Given the description of an element on the screen output the (x, y) to click on. 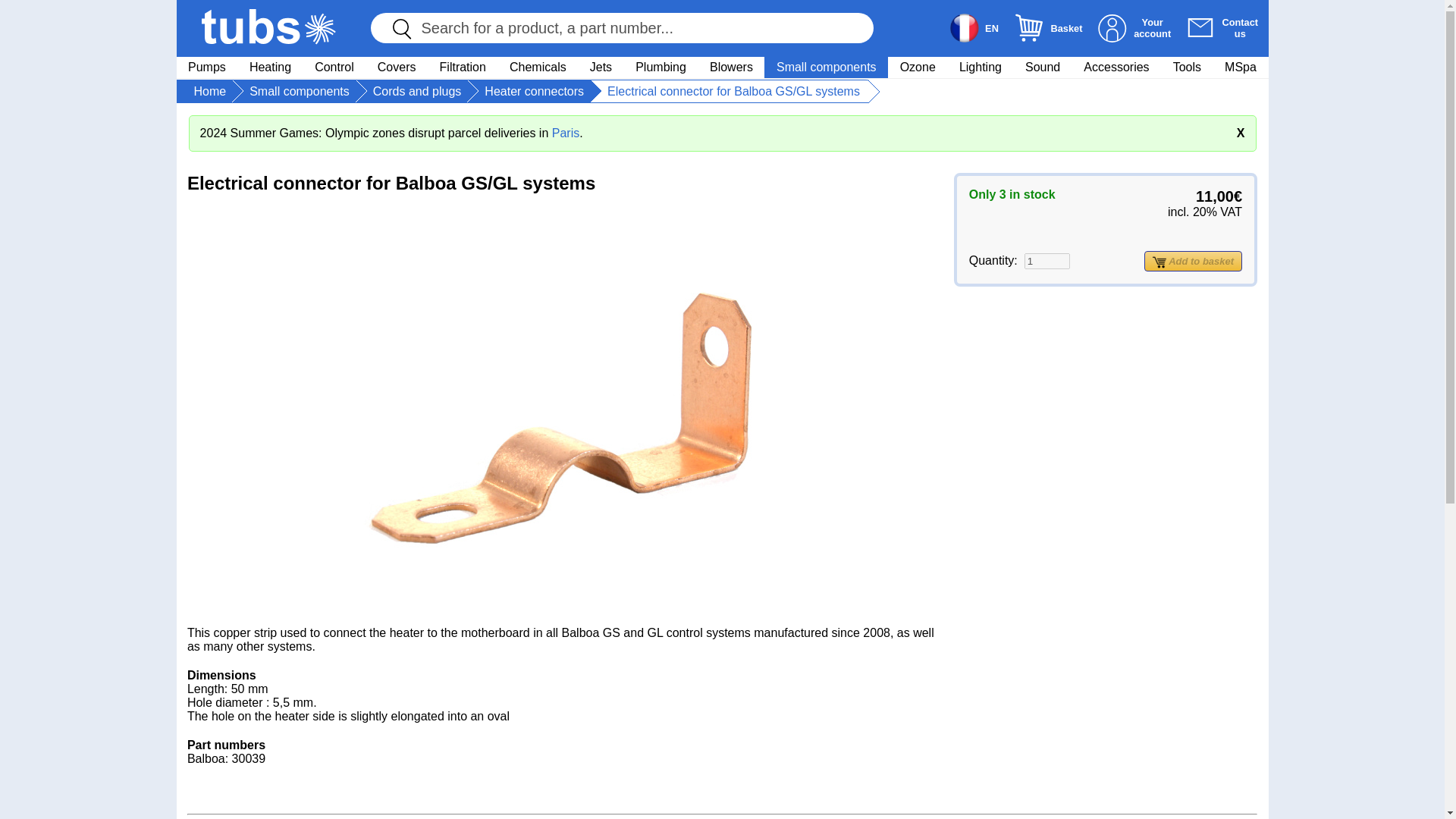
Contact us (1200, 27)
Chemicals (537, 66)
Heater connectors (533, 91)
Control (334, 66)
Small components (298, 91)
Blowers (730, 66)
Contact us (1219, 28)
Paris (565, 132)
Home (210, 91)
Basket (1028, 27)
Jets (600, 66)
Small components (826, 66)
MSpa (1240, 66)
Hot tub and spa products (269, 27)
EN (972, 28)
